Given the description of an element on the screen output the (x, y) to click on. 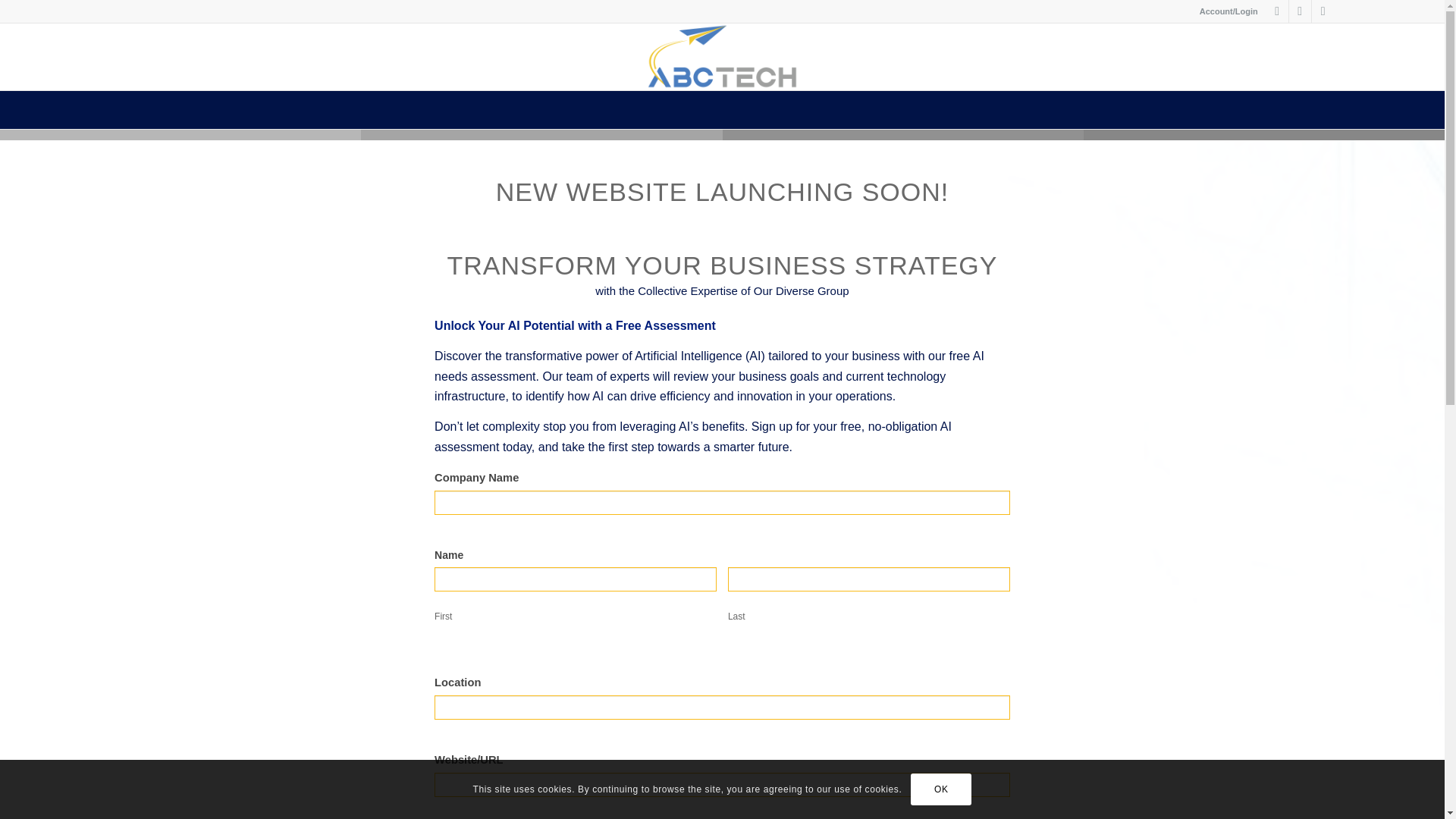
Twitter Element type: hover (1277, 11)
ABCtech-Logo Element type: hover (722, 56)
OK Element type: text (940, 789)
Account/Login Element type: text (1228, 11)
Mail Element type: hover (1322, 11)
Facebook Element type: hover (1300, 11)
